Given the description of an element on the screen output the (x, y) to click on. 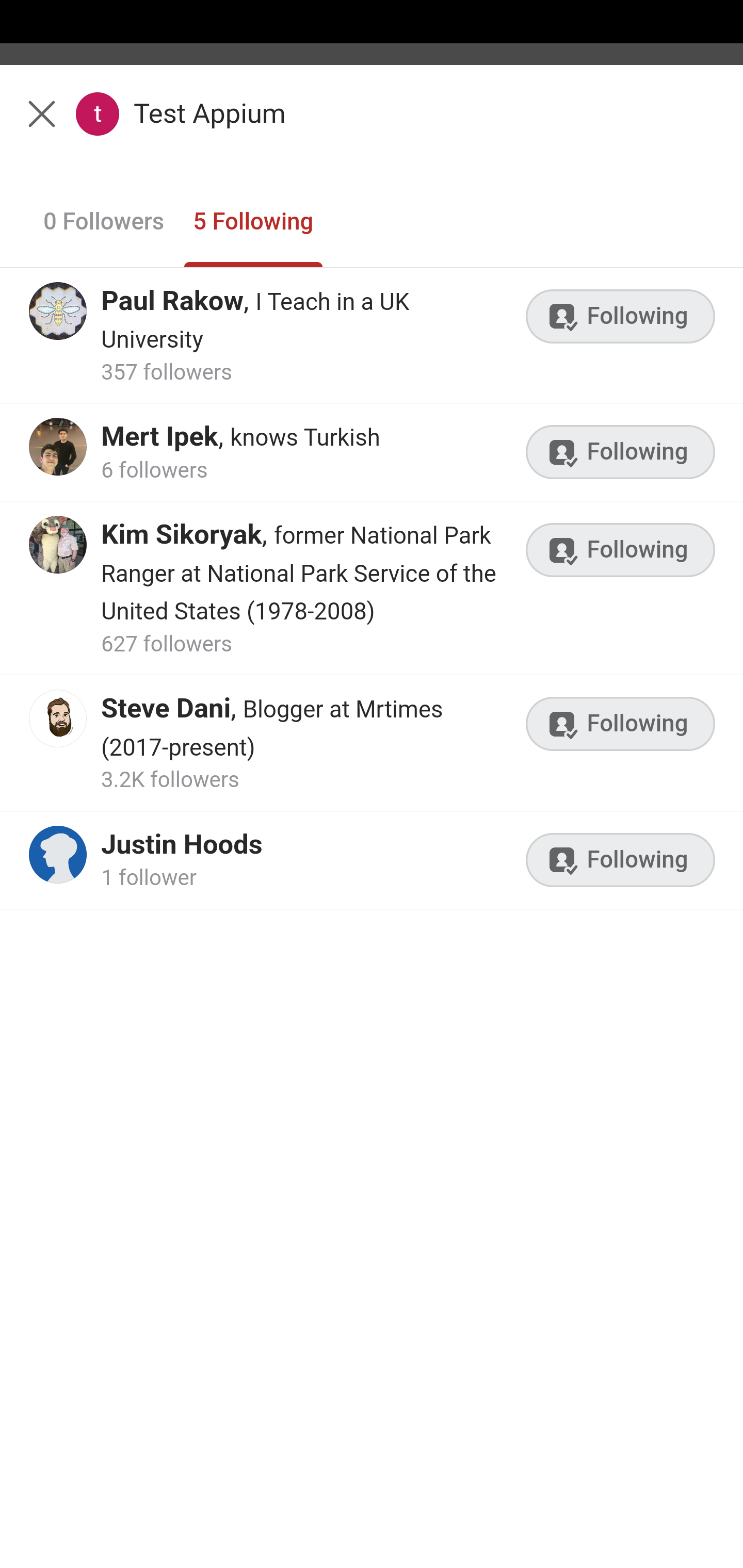
Me Home Search Add (371, 125)
Back Test Appium (371, 125)
